Given the description of an element on the screen output the (x, y) to click on. 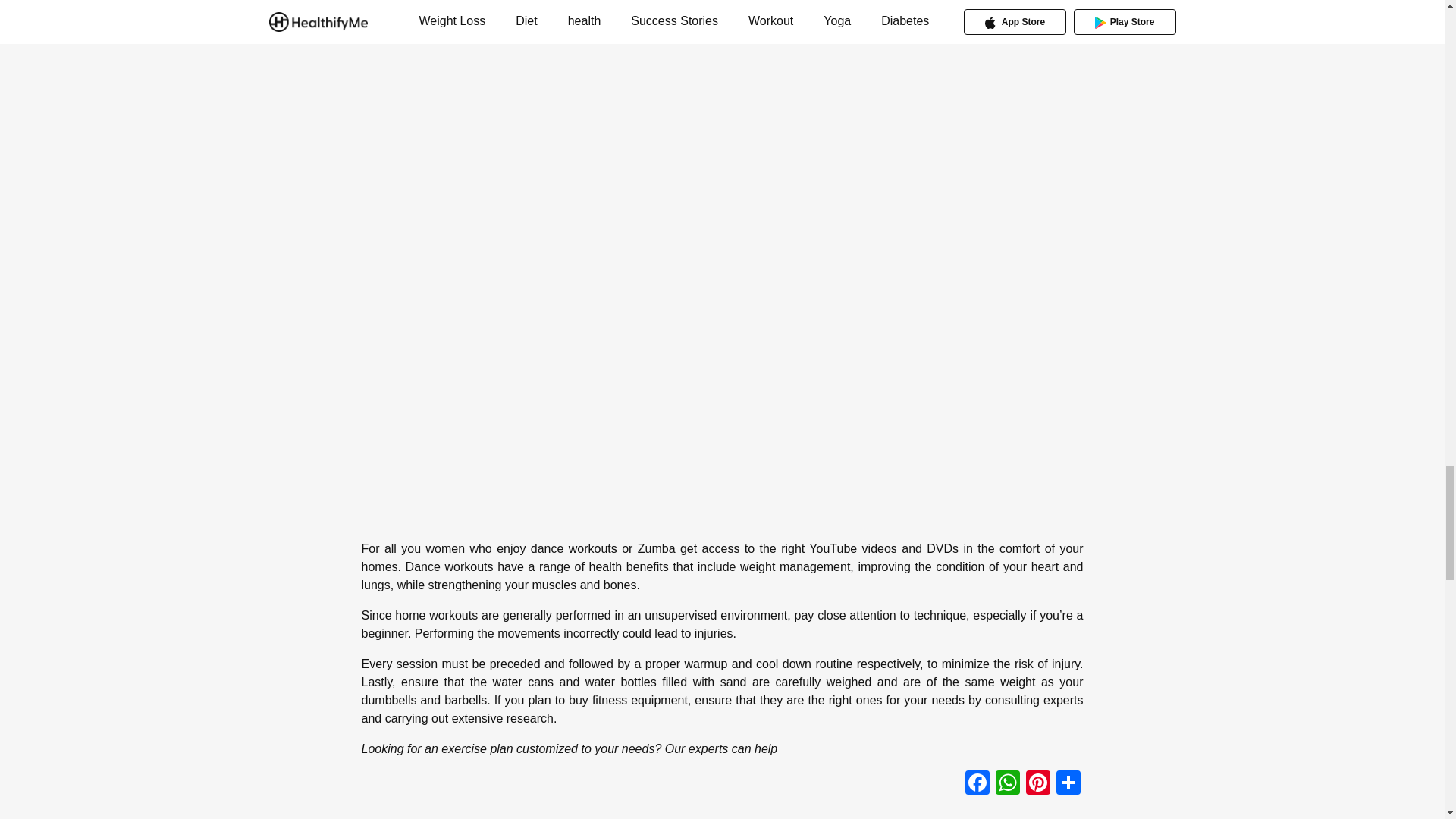
Facebook (975, 782)
Facebook (975, 782)
Pinterest (1037, 782)
Share (1067, 782)
WhatsApp (1006, 782)
Pinterest (1037, 782)
WhatsApp (1006, 782)
